Given the description of an element on the screen output the (x, y) to click on. 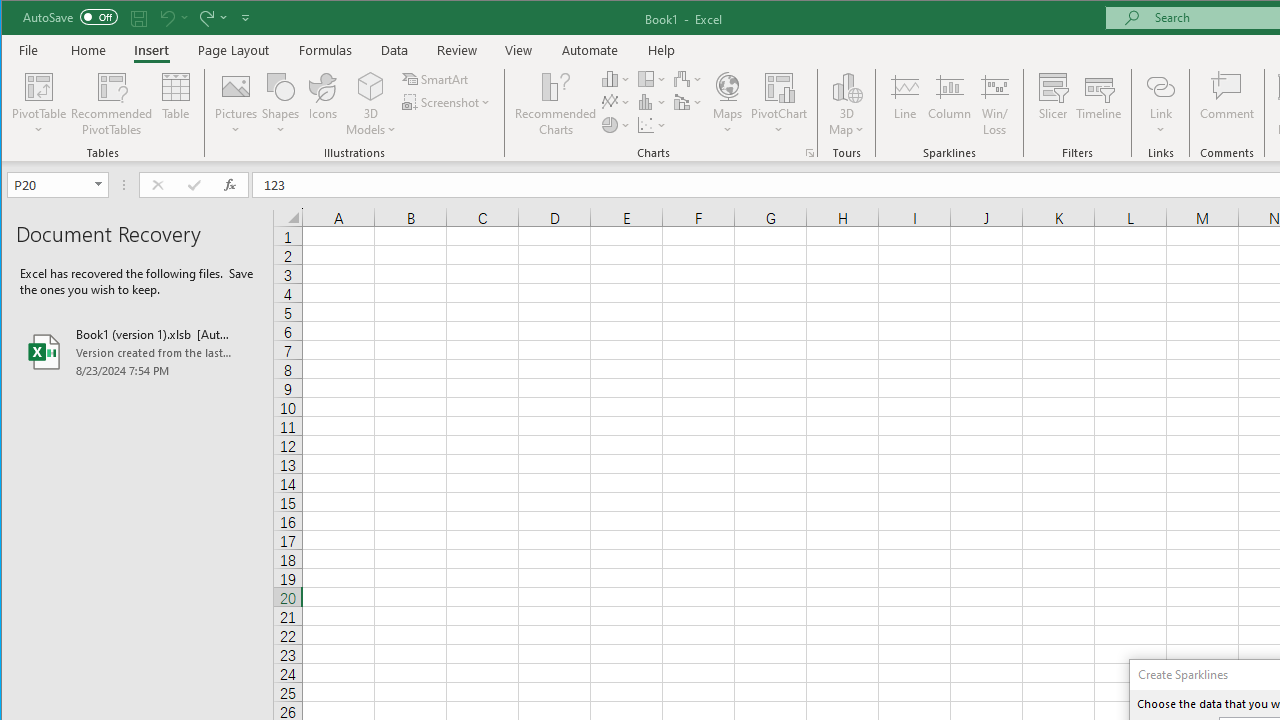
AutoSave (70, 16)
Link (1160, 104)
Table (175, 104)
View (518, 50)
3D Models (371, 86)
Recommended PivotTables (111, 104)
Column (949, 104)
Recommended Charts (809, 152)
Formulas (326, 50)
Insert Scatter (X, Y) or Bubble Chart (652, 124)
Insert (151, 50)
Data (395, 50)
